Given the description of an element on the screen output the (x, y) to click on. 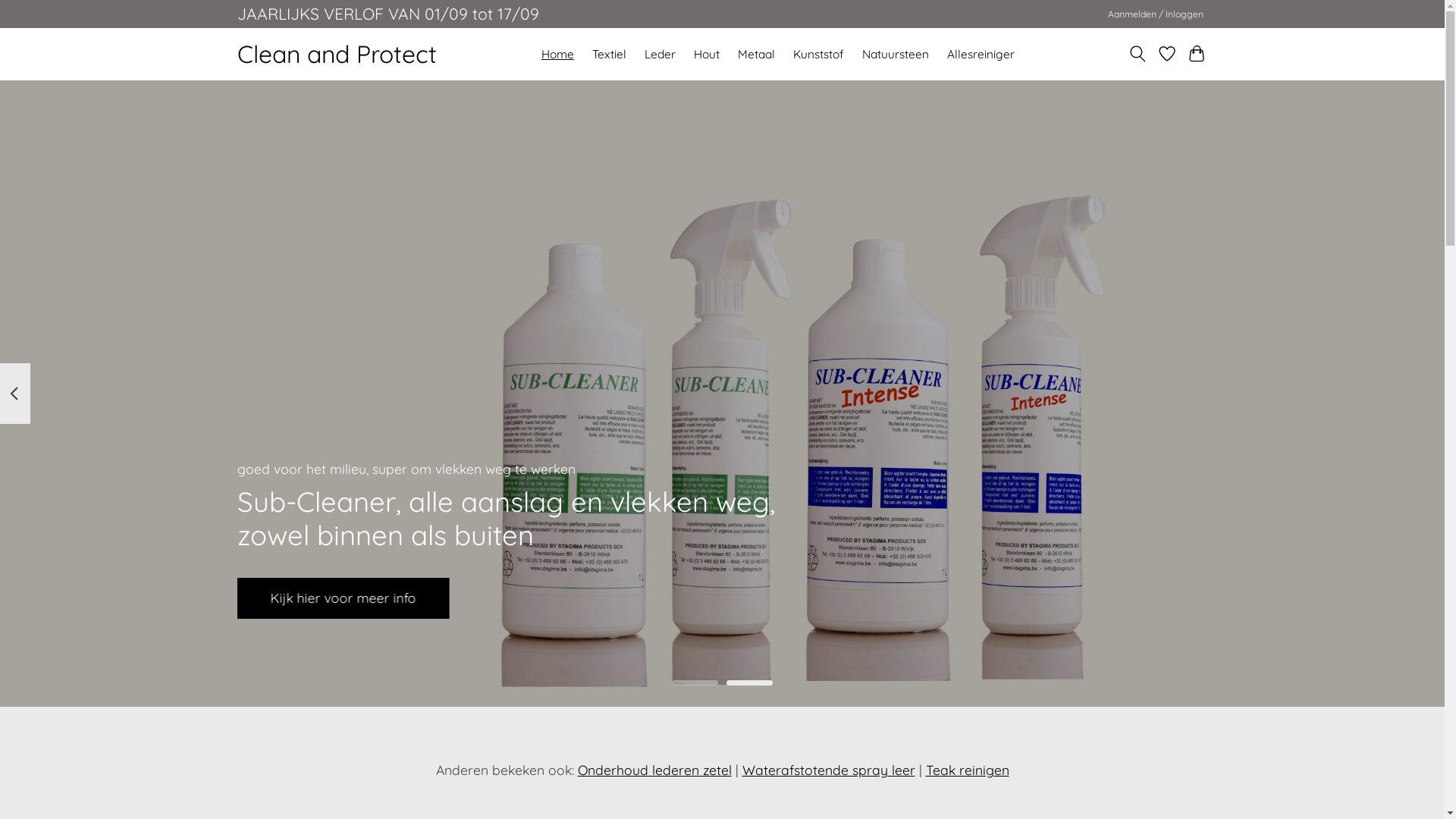
Leder Element type: text (659, 54)
Textiel Element type: text (608, 54)
Onderhoud lederen zetel Element type: text (654, 769)
Clean and Protect Element type: text (336, 54)
Kunststof Element type: text (818, 54)
Natuursteen Element type: text (895, 54)
Kijk hier voor meer info Element type: text (342, 597)
Metaal Element type: text (756, 54)
Allesreiniger Element type: text (980, 54)
Waterafstotende spray leer Element type: text (827, 769)
Aanmelden / Inloggen Element type: text (1155, 13)
Home Element type: text (556, 54)
Hout Element type: text (706, 54)
Teak reinigen Element type: text (966, 769)
